Given the description of an element on the screen output the (x, y) to click on. 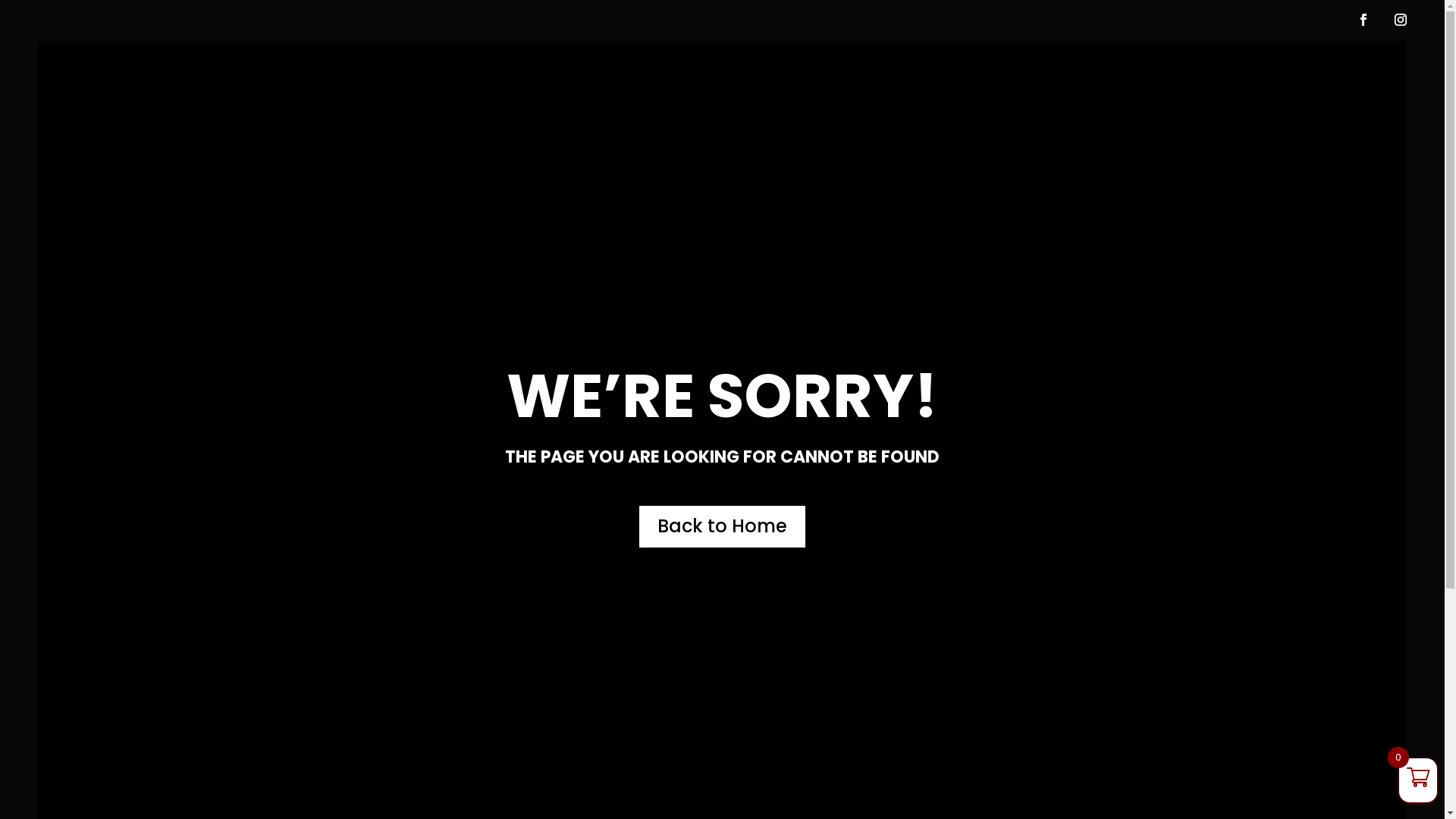
Back to Home Element type: text (722, 526)
